Given the description of an element on the screen output the (x, y) to click on. 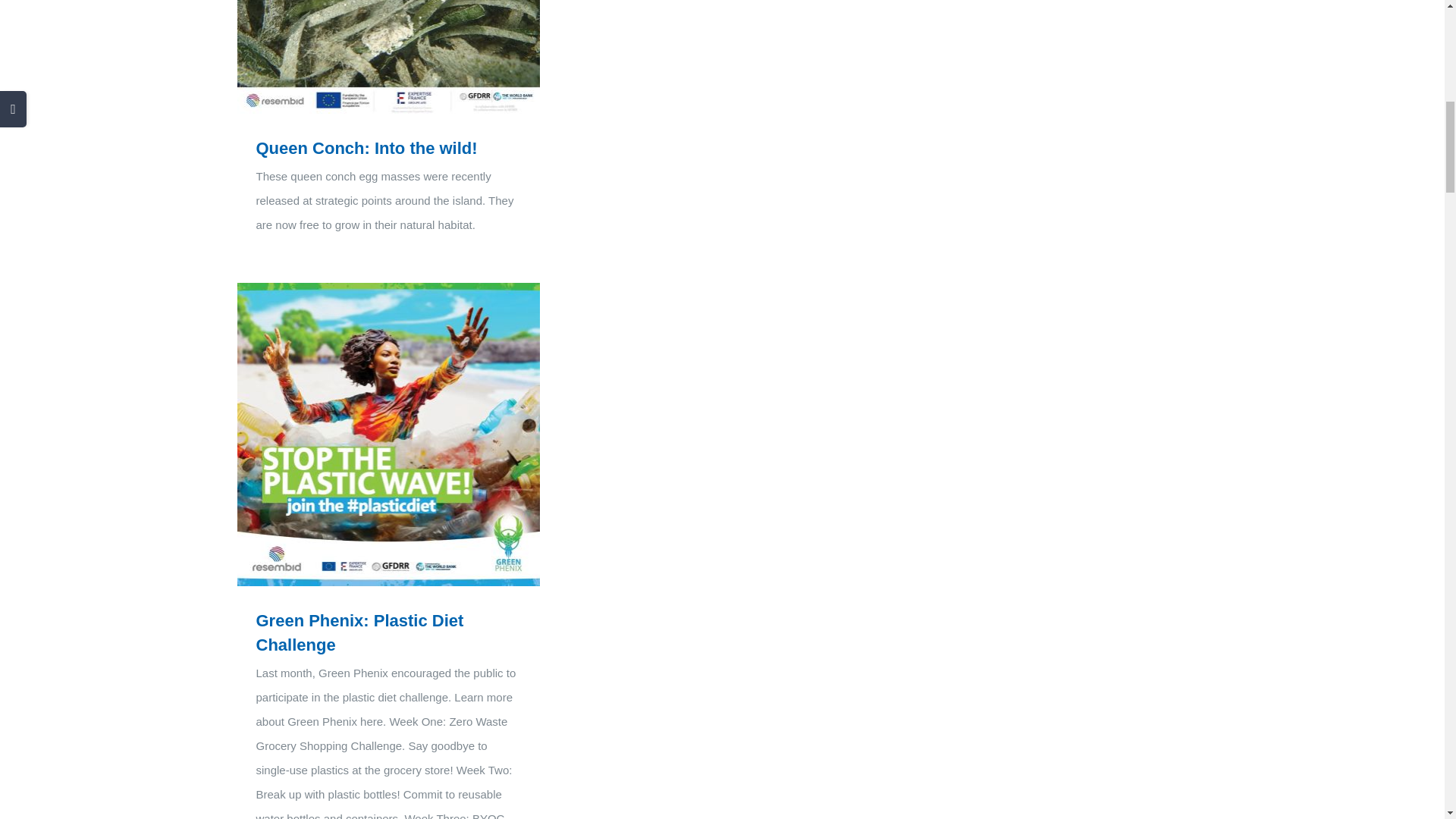
Green Phenix: Plastic Diet Challenge (360, 632)
Queen Conch: Into the wild! (366, 148)
